Given the description of an element on the screen output the (x, y) to click on. 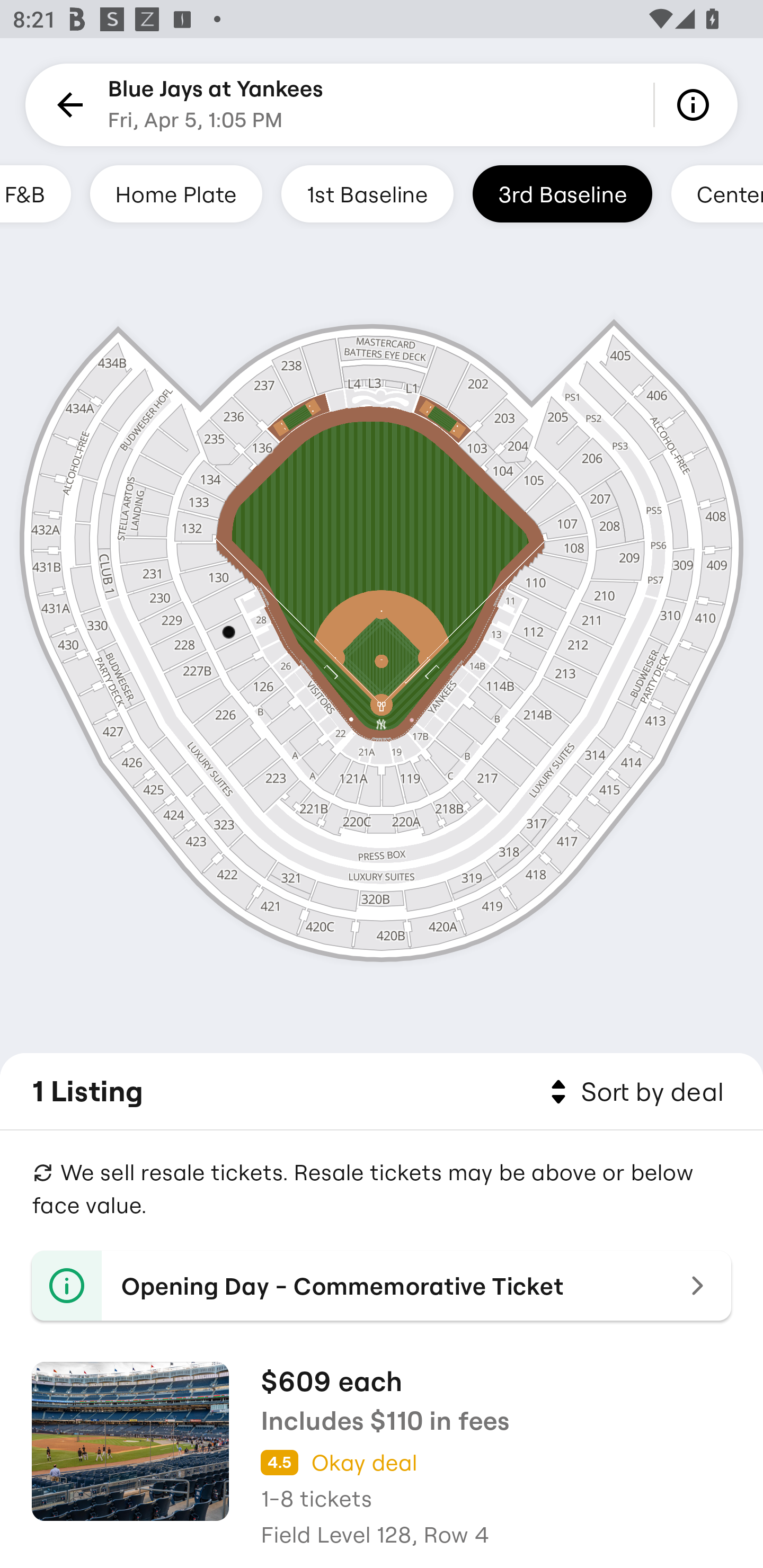
Back (66, 104)
Blue Jays at Yankees Fri, Apr 5, 1:05 PM (215, 104)
Info (695, 104)
Home Plate (176, 193)
1st Baseline (367, 193)
3rd Baseline (562, 193)
Sort by deal (633, 1091)
Opening Day - Commemorative Ticket (381, 1285)
